Given the description of an element on the screen output the (x, y) to click on. 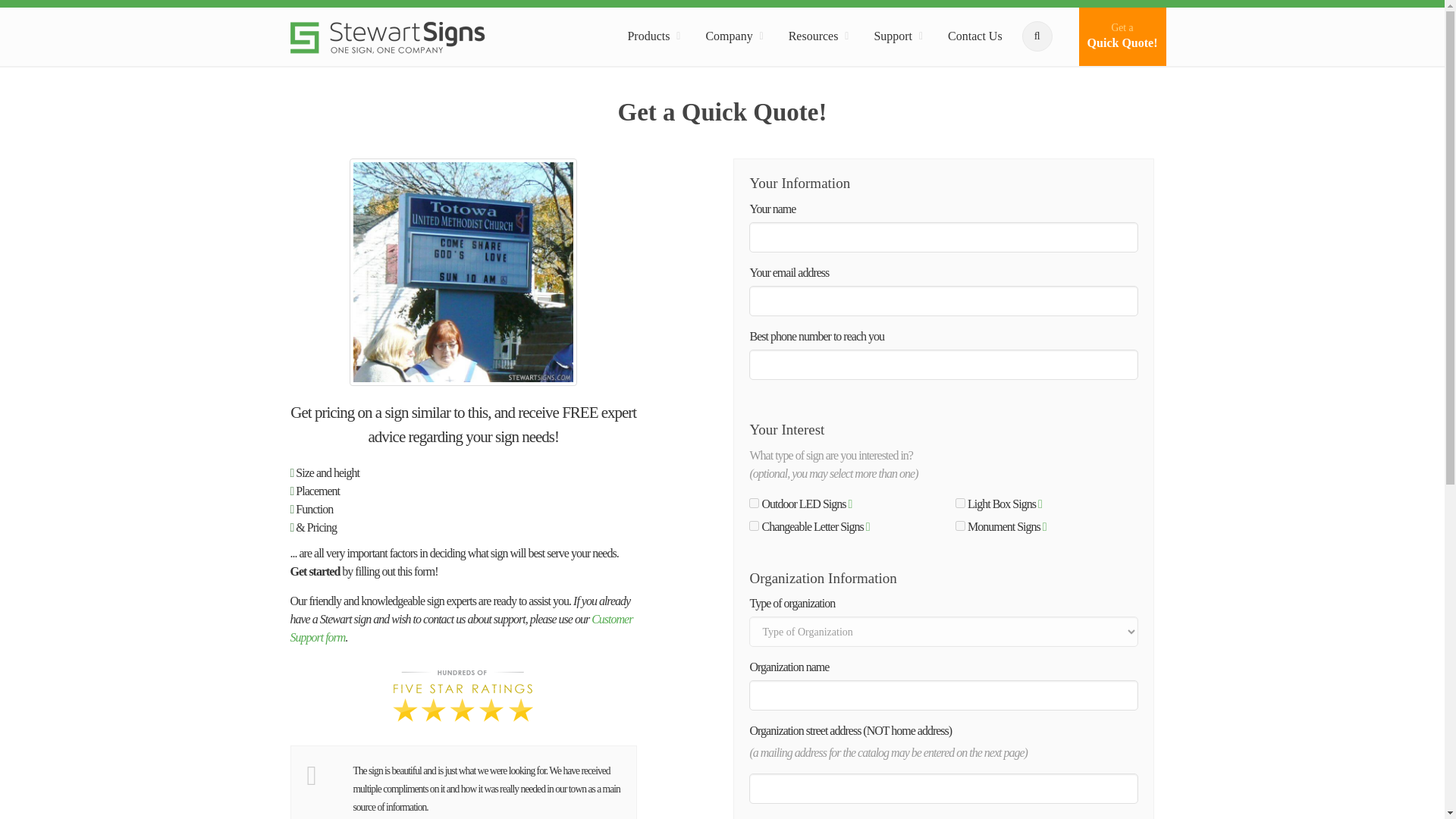
1 (753, 525)
Products (649, 36)
1 (960, 502)
Contact Us (975, 36)
Company (730, 36)
1 (960, 525)
Customer Support form (460, 627)
Church Sign for Totowa United Methodist Church (462, 271)
1 (1122, 36)
Support (753, 502)
Resources (894, 36)
